Given the description of an element on the screen output the (x, y) to click on. 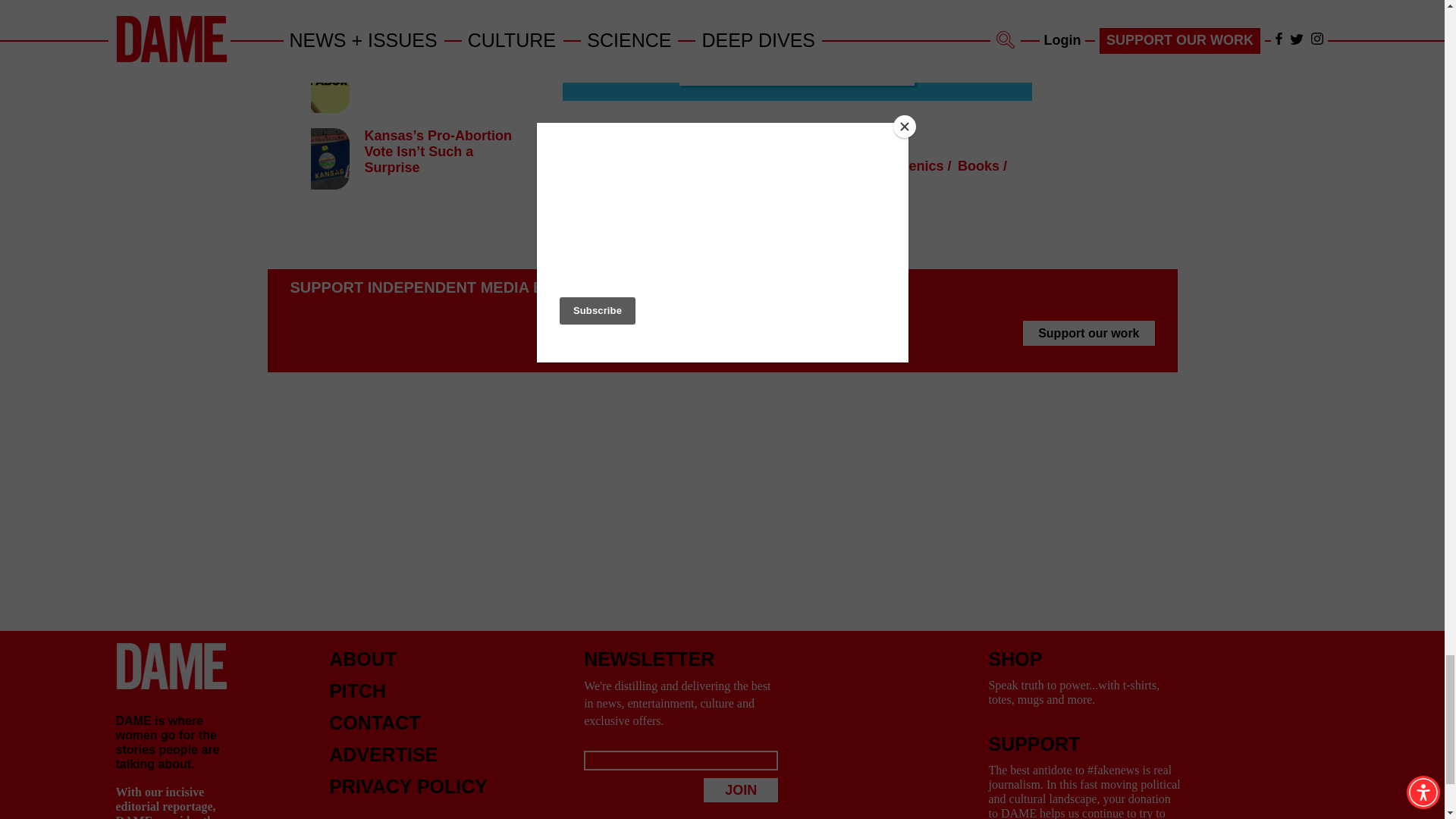
Email (638, 132)
Share (676, 132)
Twitter (599, 132)
Join (740, 790)
DAME (171, 665)
